Given the description of an element on the screen output the (x, y) to click on. 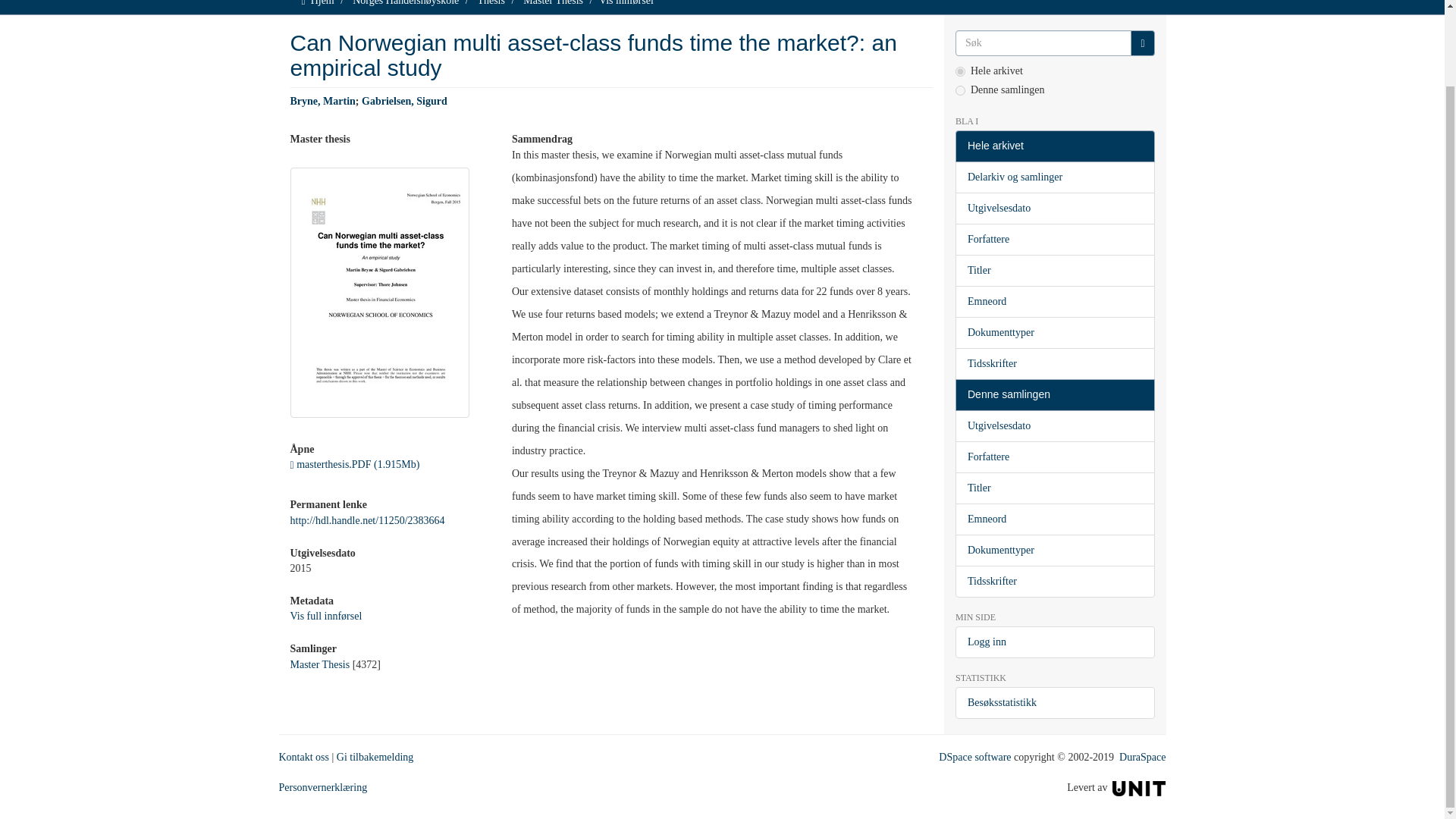
Gabrielsen, Sigurd (403, 101)
Forfattere (1054, 239)
Bryne, Martin (322, 101)
Thesis (491, 2)
Master Thesis (552, 2)
Hele arkivet (1054, 146)
Titler (1054, 270)
Hjem (322, 2)
Utgivelsesdato (1054, 208)
Unit (1139, 787)
Master Thesis (319, 664)
Delarkiv og samlinger (1054, 177)
